Given the description of an element on the screen output the (x, y) to click on. 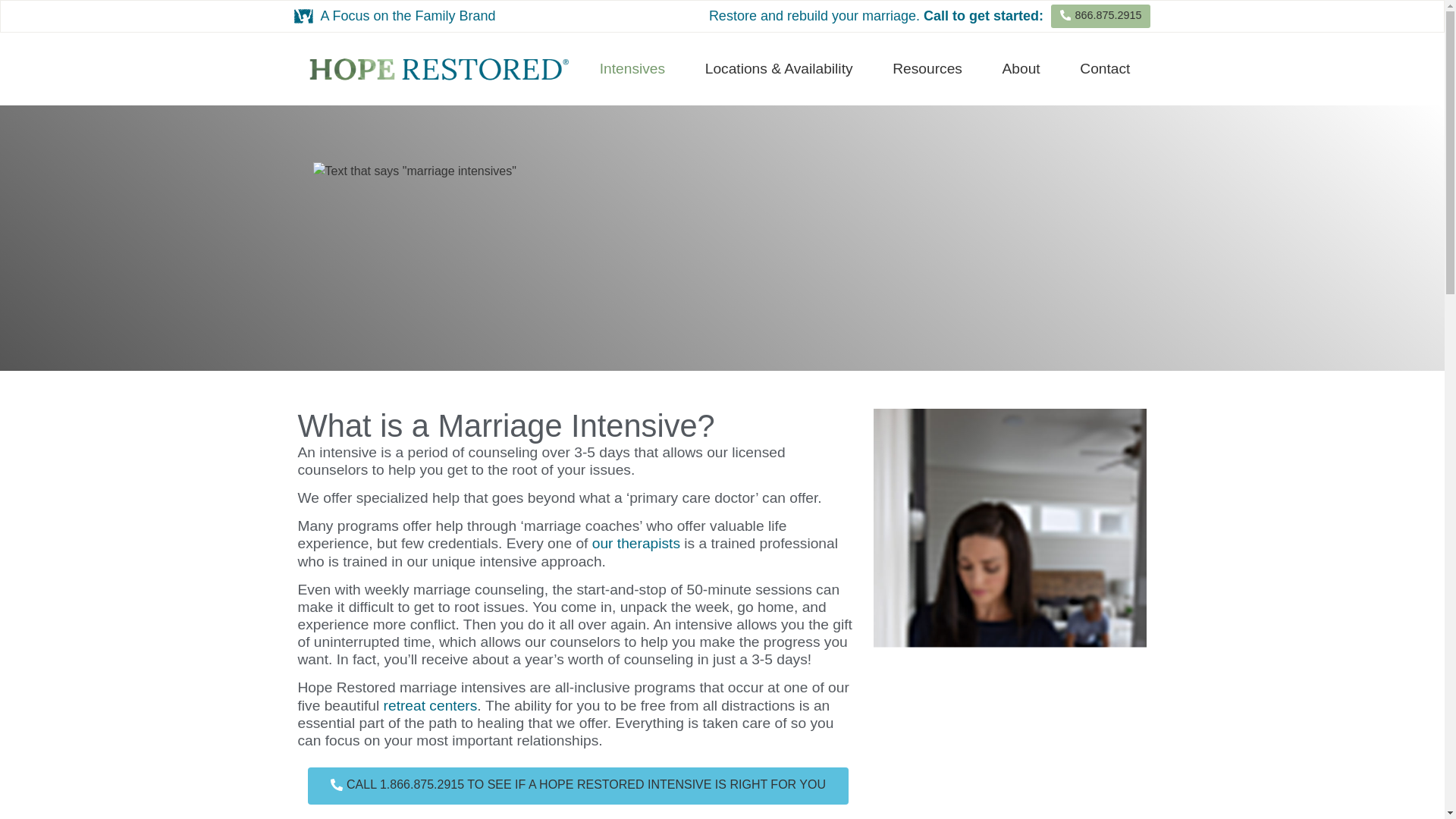
Contact (1104, 68)
Intensives (631, 68)
About (1020, 68)
retreat centers (430, 705)
A Focus on the Family Brand (407, 15)
Resources (926, 68)
FOTF-Favicon.png (303, 15)
our therapists (635, 543)
866.875.2915 (1100, 15)
